Given the description of an element on the screen output the (x, y) to click on. 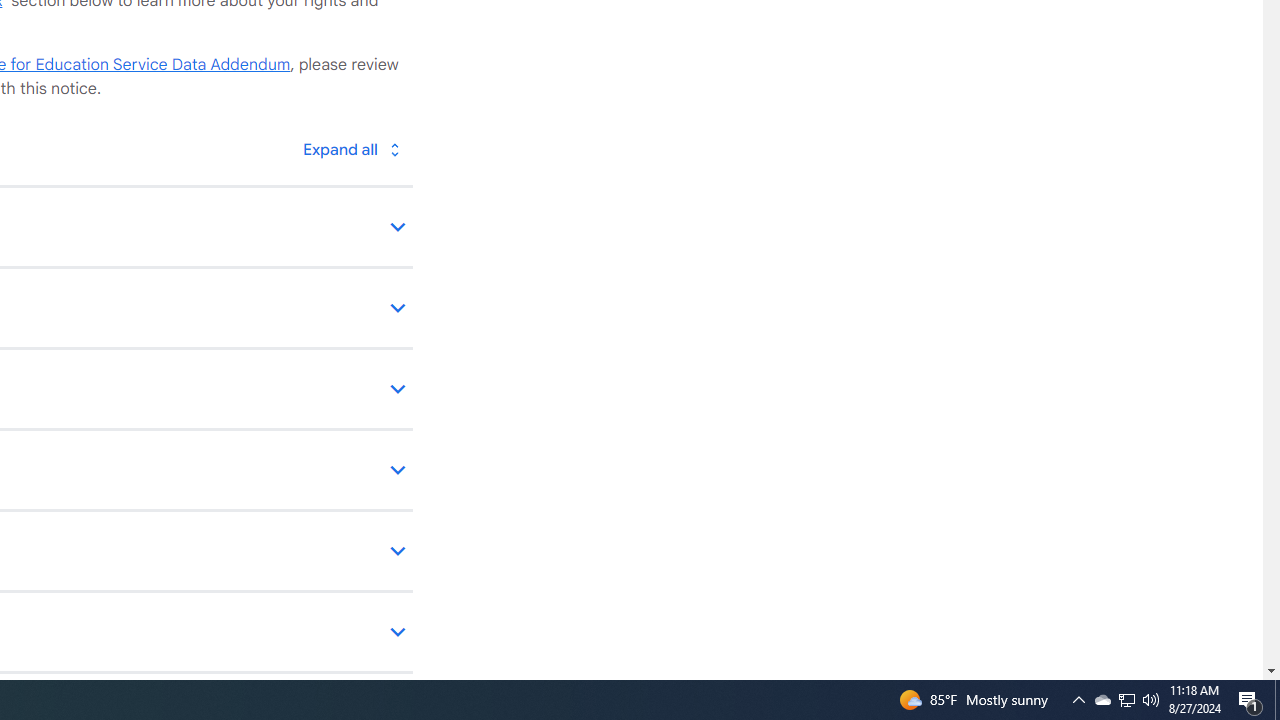
Toggle all (351, 148)
